Given the description of an element on the screen output the (x, y) to click on. 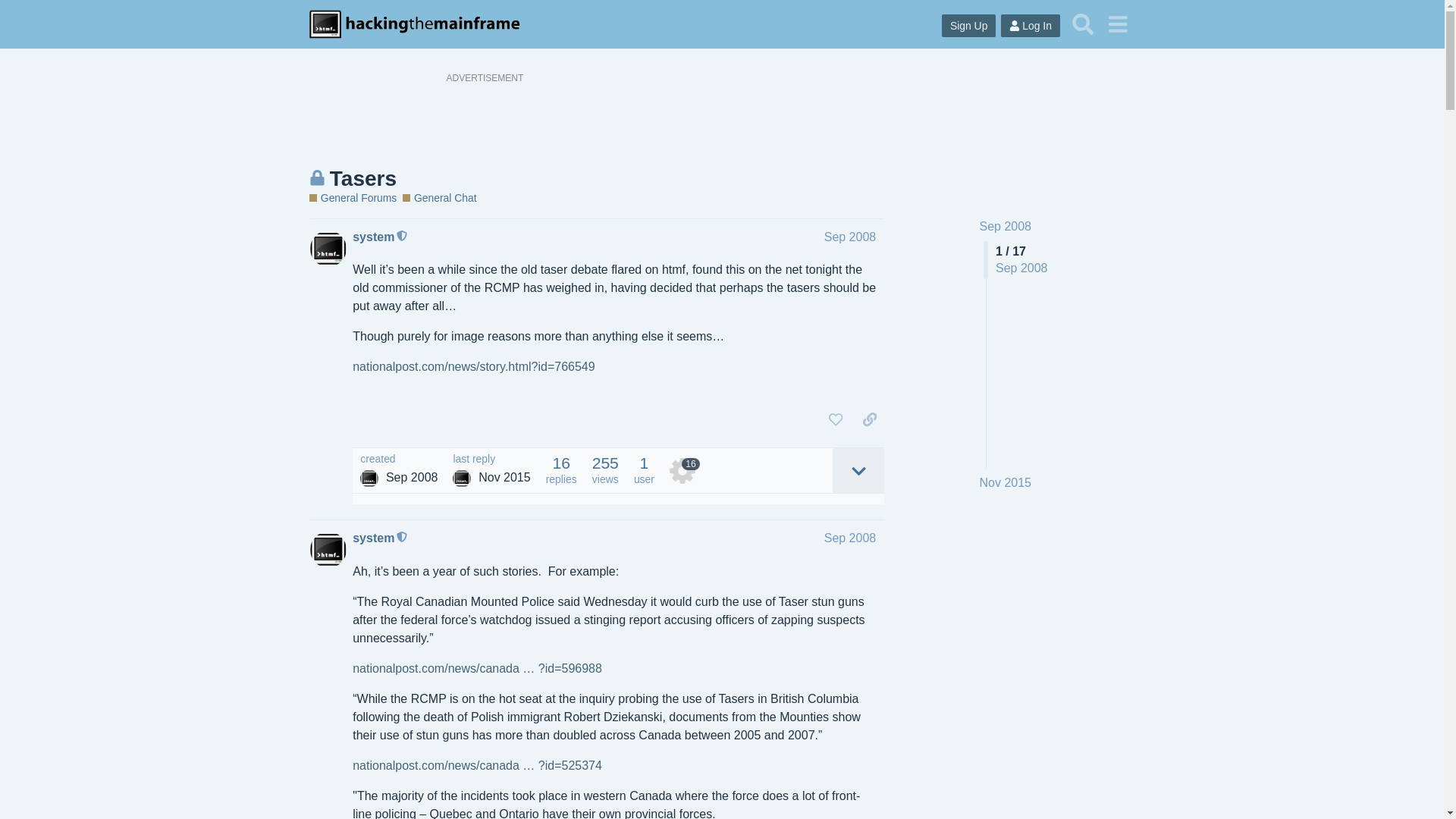
Jump to the last post (1005, 481)
Sign Up (968, 25)
expand topic details (857, 470)
Sep 2008 (850, 537)
system (368, 478)
Sep 2008 (850, 236)
Log In (1030, 25)
Search (1082, 23)
system (373, 237)
Nov 2015 (1005, 483)
Sep 2008 (1005, 226)
last reply (490, 459)
General Chat (439, 197)
General Forums (352, 197)
Tasers (363, 178)
